Given the description of an element on the screen output the (x, y) to click on. 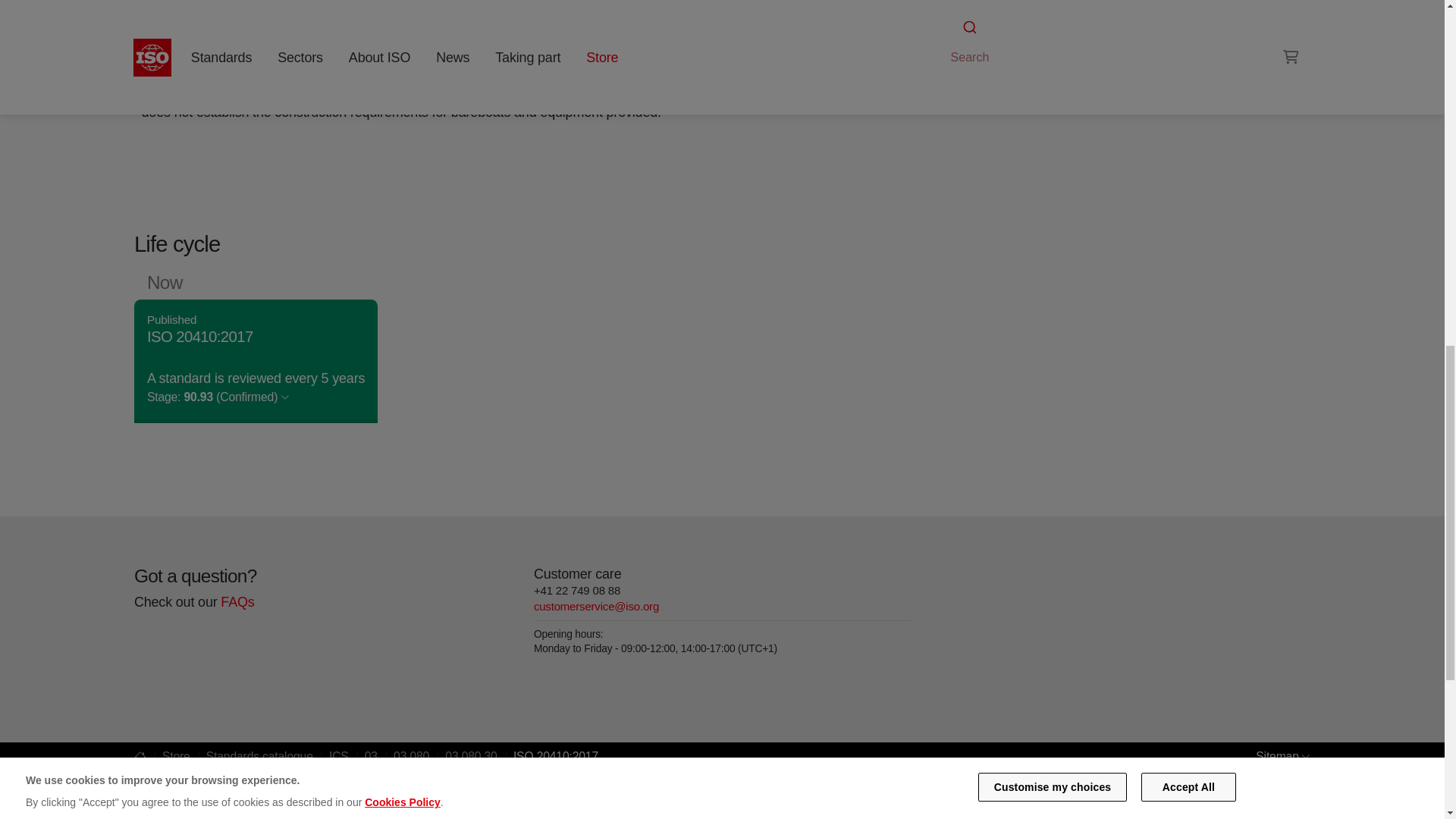
Services for consumers (997, 40)
Tourism and related services (1104, 22)
